Given the description of an element on the screen output the (x, y) to click on. 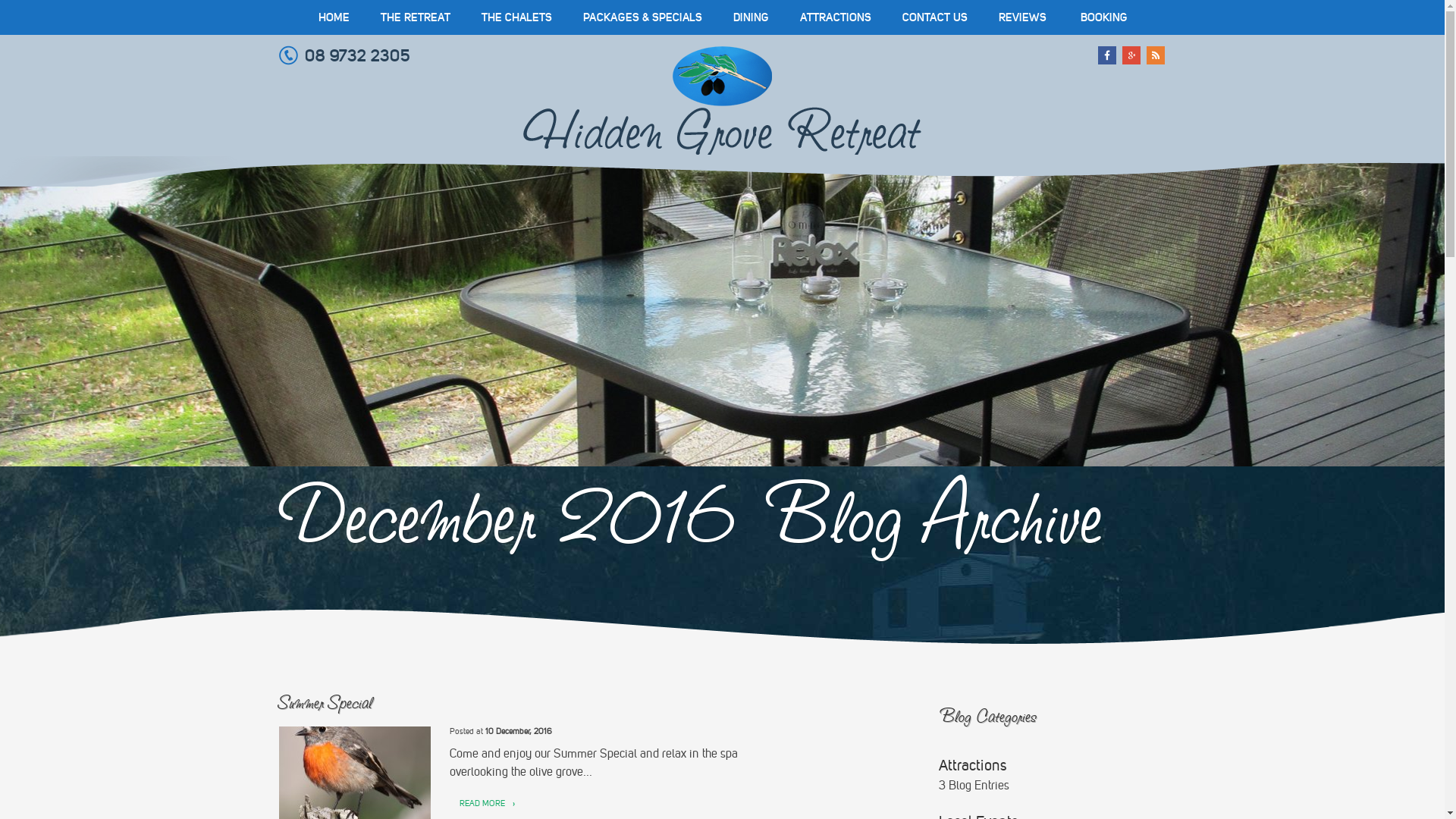
DINING Element type: text (750, 17)
THE RETREAT Element type: text (415, 17)
PACKAGES & SPECIALS Element type: text (641, 17)
THE CHALETS Element type: text (515, 17)
READ MORE Element type: text (481, 803)
REVIEWS Element type: text (1021, 17)
BOOKING Element type: text (1103, 17)
HOME Element type: text (333, 17)
Attractions Element type: text (972, 765)
ATTRACTIONS Element type: text (834, 17)
CONTACT US Element type: text (934, 17)
Summer Special Element type: text (325, 701)
